Given the description of an element on the screen output the (x, y) to click on. 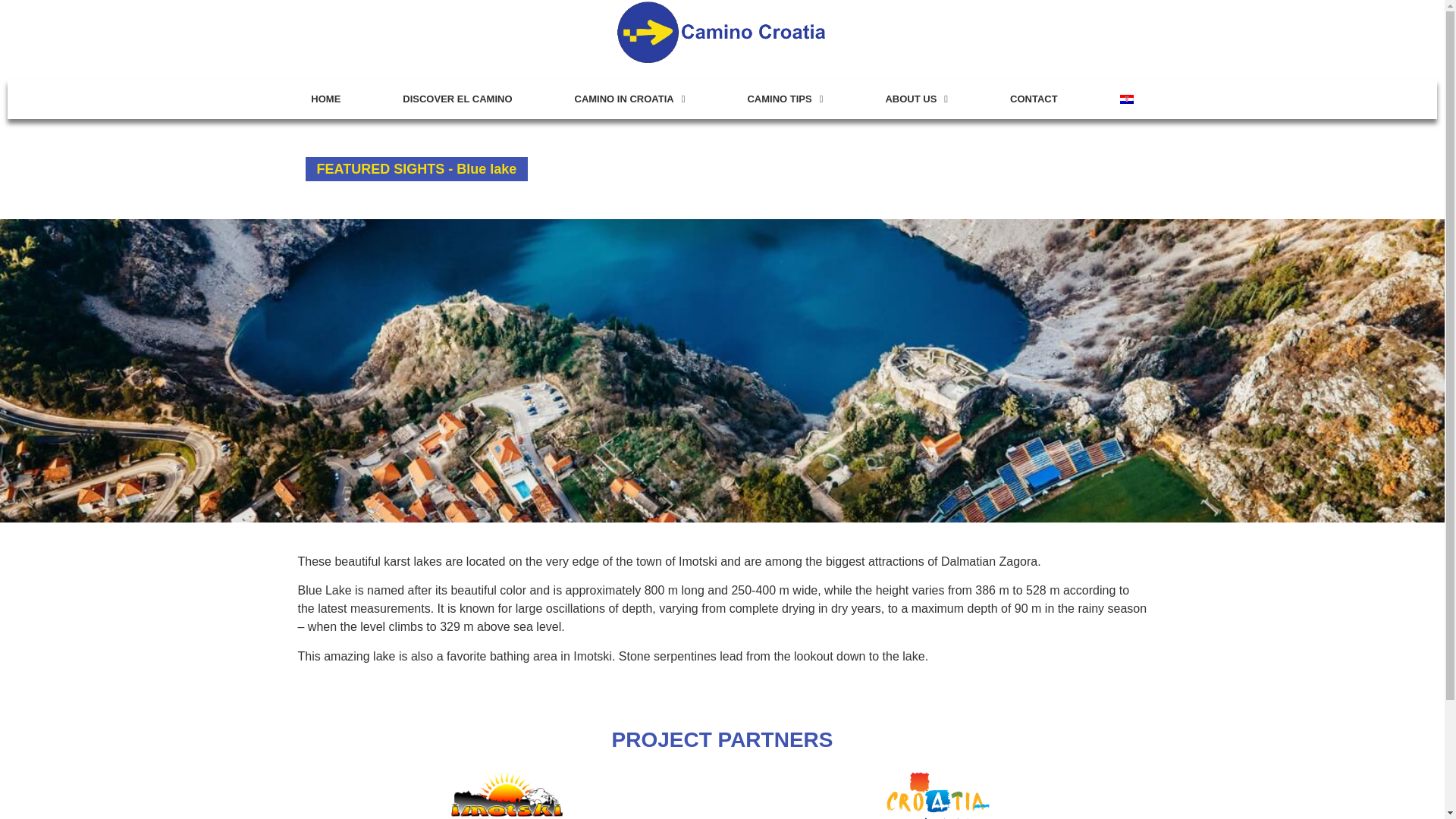
DISCOVER EL CAMINO (457, 98)
CONTACT (1033, 98)
ABOUT US (915, 98)
CAMINO IN CROATIA (629, 98)
CAMINO TIPS (784, 98)
HOME (325, 98)
